Given the description of an element on the screen output the (x, y) to click on. 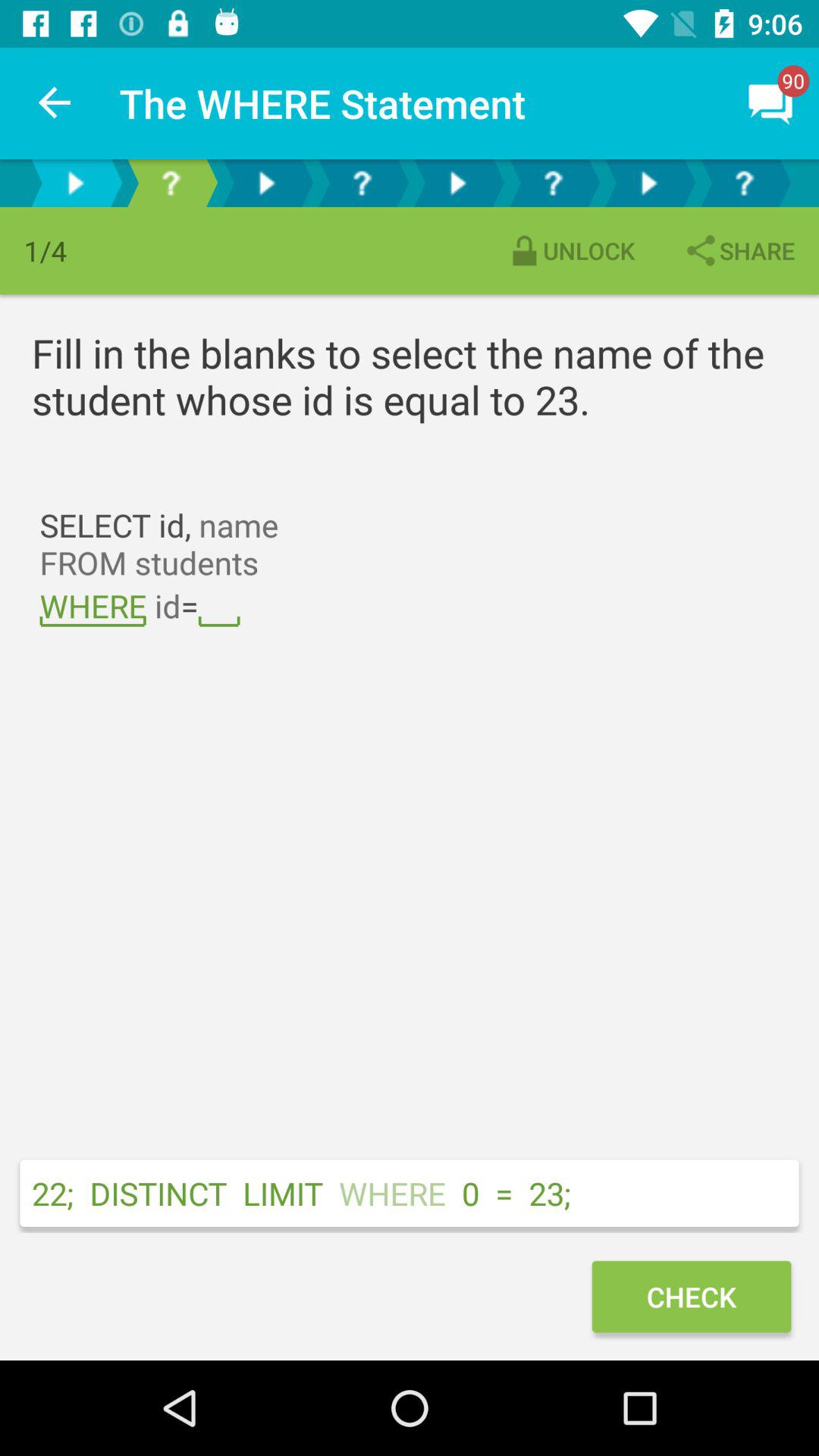
proceed to this section (648, 183)
